Given the description of an element on the screen output the (x, y) to click on. 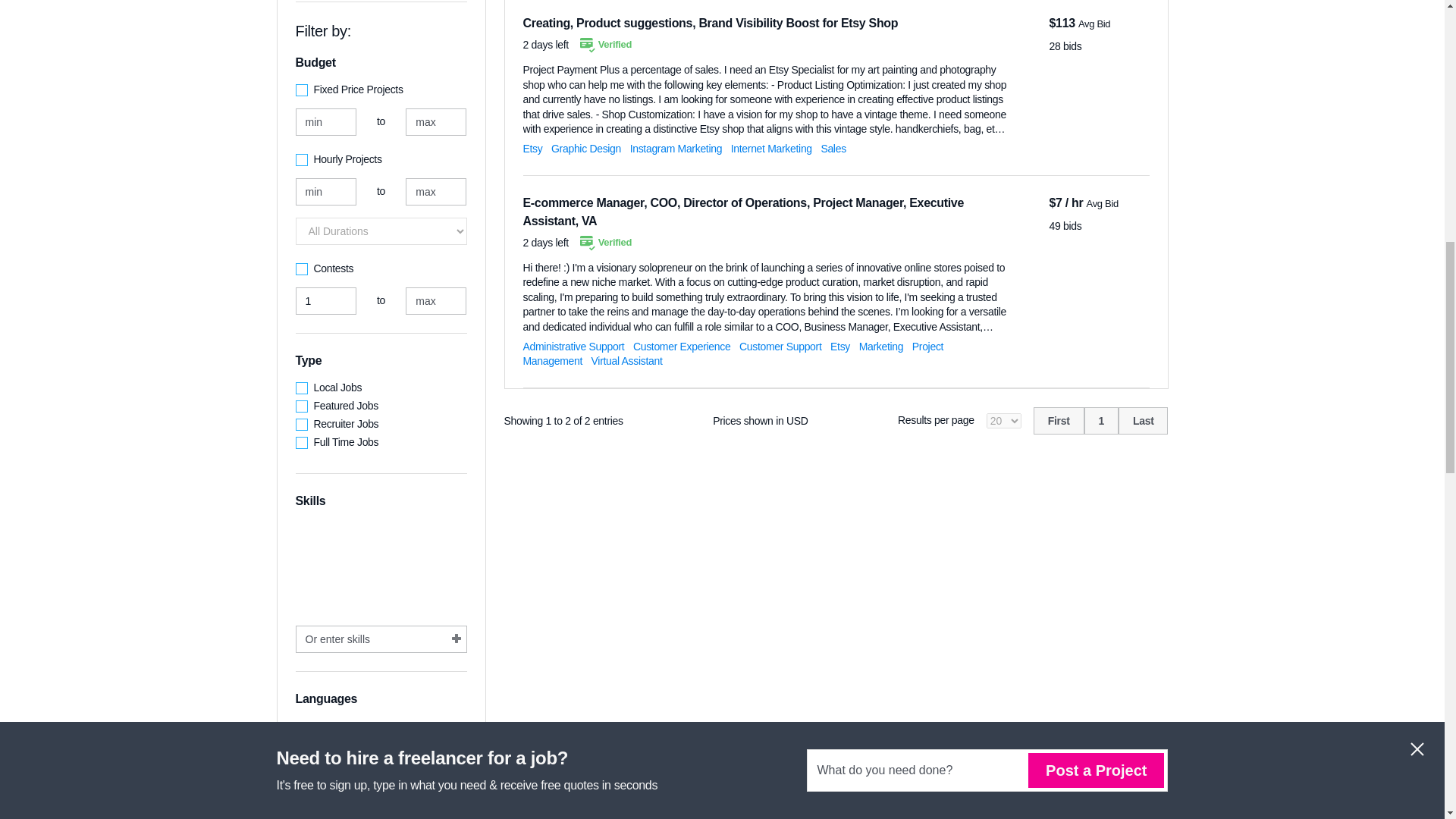
Virtual Assistant (626, 360)
Instagram Marketing (676, 148)
Sales (833, 148)
Graphic Design (586, 148)
Etsy (839, 346)
Etsy (532, 148)
Administrative Support (573, 346)
1 (1101, 420)
Customer Experience (681, 346)
Project Management (732, 353)
